Given the description of an element on the screen output the (x, y) to click on. 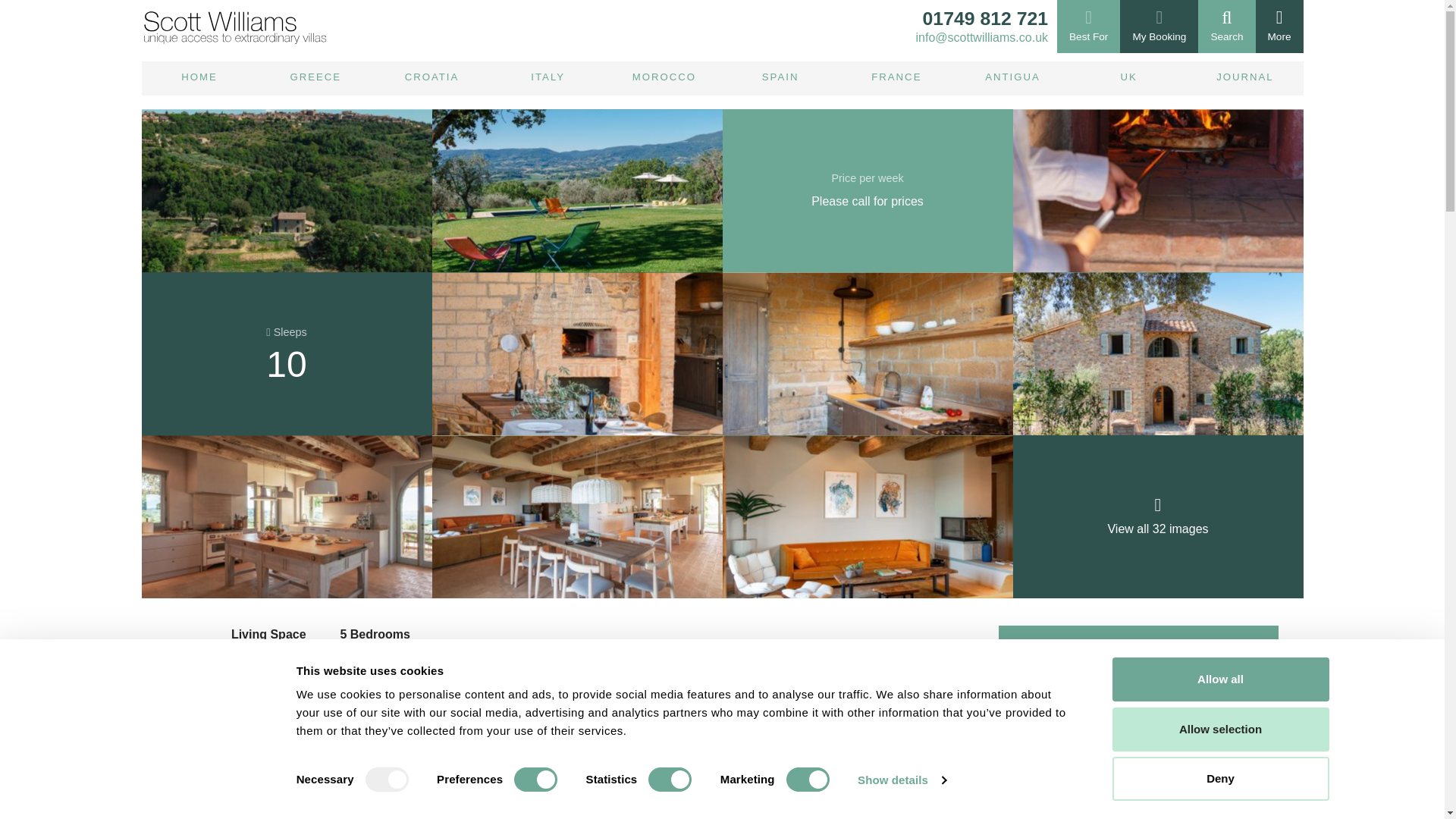
Allow selection (1219, 728)
Deny (1219, 778)
01749 812 721 (981, 18)
Show details (900, 780)
Best For (1088, 26)
Allow all (1219, 679)
